Given the description of an element on the screen output the (x, y) to click on. 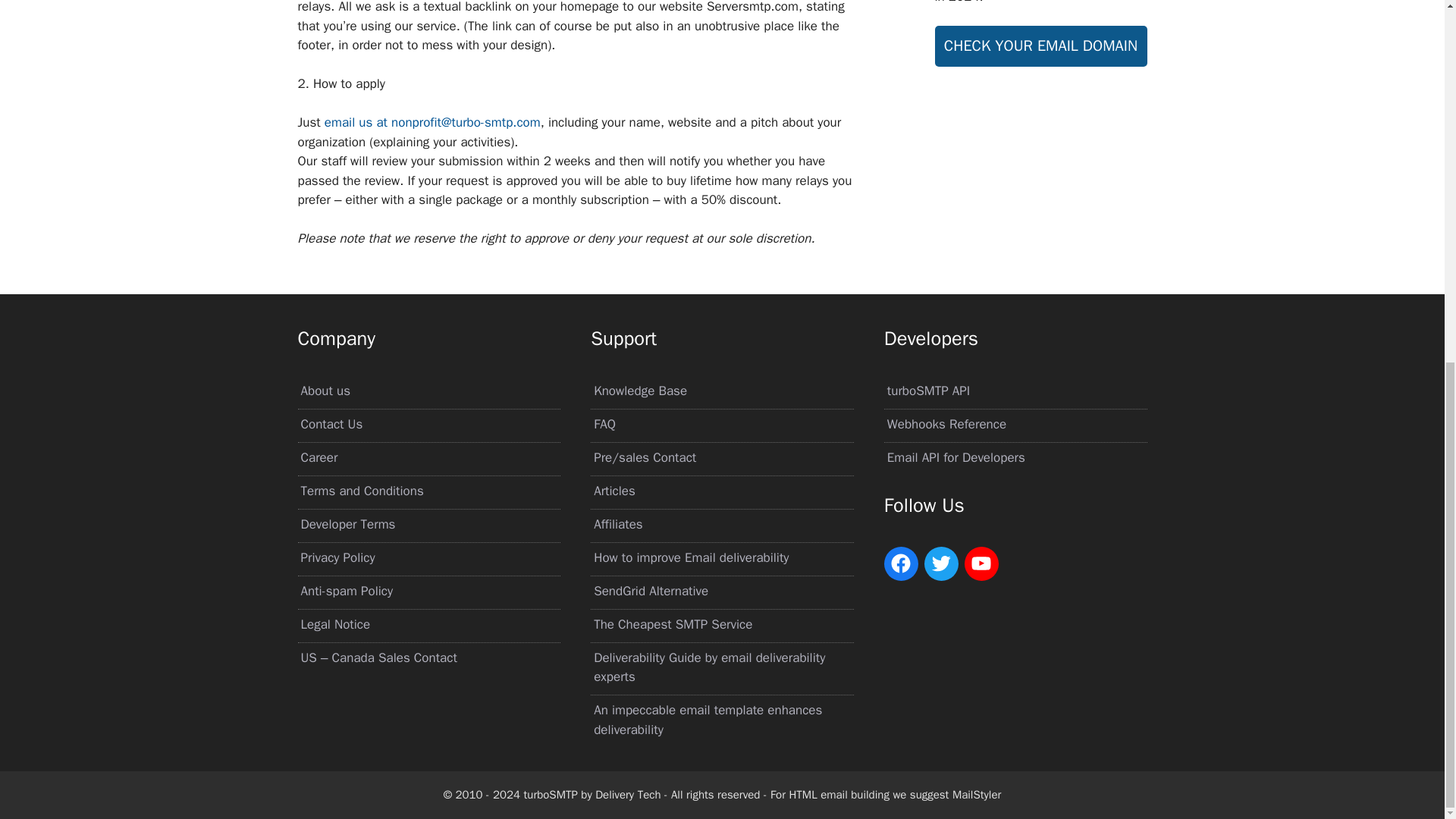
FAQ (604, 424)
Contact Us (330, 424)
Email Domain Validation Check (1040, 45)
CHECK YOUR EMAIL DOMAIN (1040, 45)
Developer Terms (346, 524)
Privacy Policy (336, 557)
About us (324, 390)
Career (318, 457)
SendGrid Alternative (650, 590)
Anti-spam Policy (346, 590)
How to improve Email deliverability (691, 557)
Articles (614, 490)
The Cheapest SMTP Service (673, 624)
Your Career at turboSMTP (318, 457)
Affiliates (618, 524)
